Given the description of an element on the screen output the (x, y) to click on. 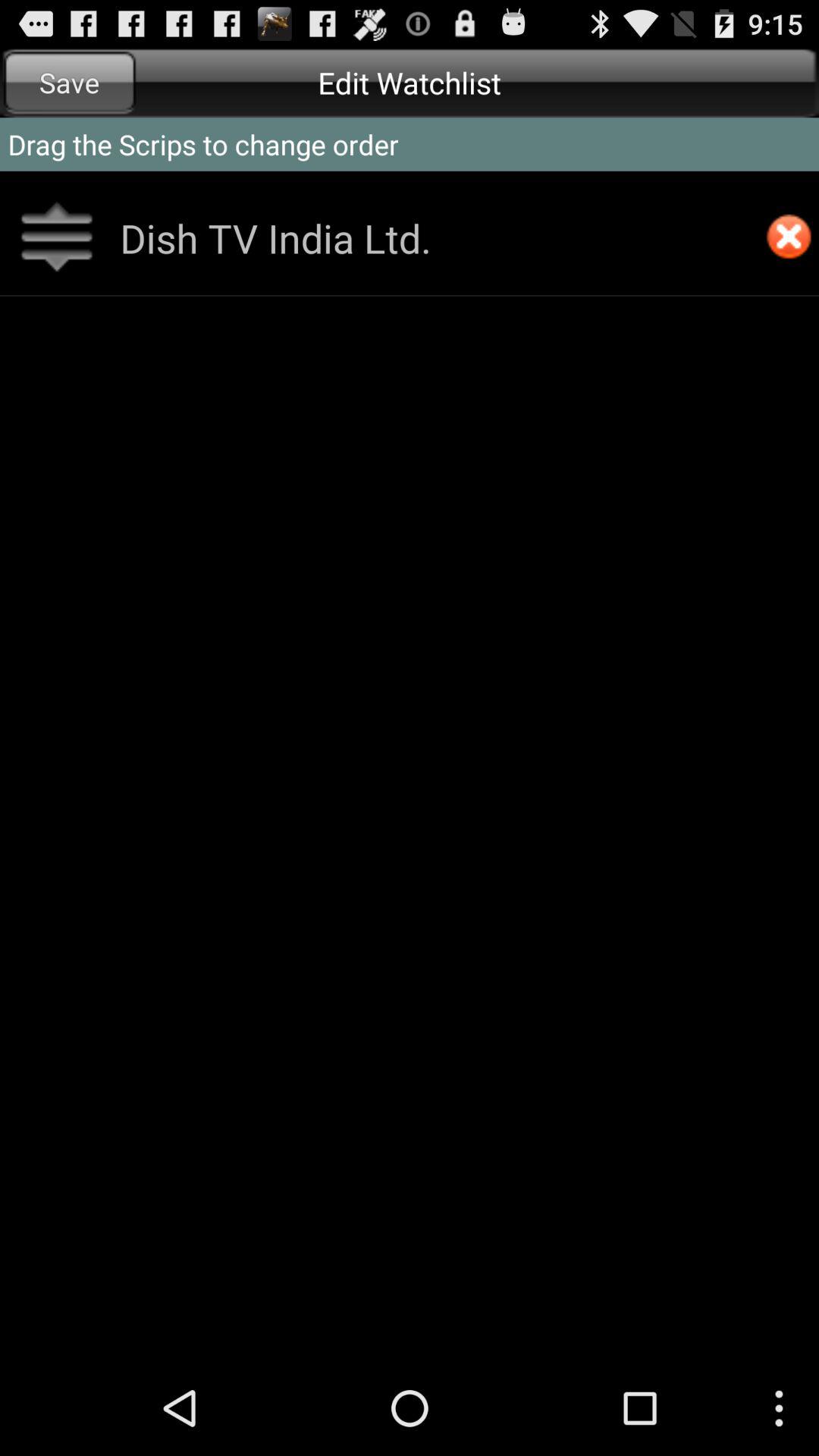
tap item next to the dish tv india app (788, 238)
